Given the description of an element on the screen output the (x, y) to click on. 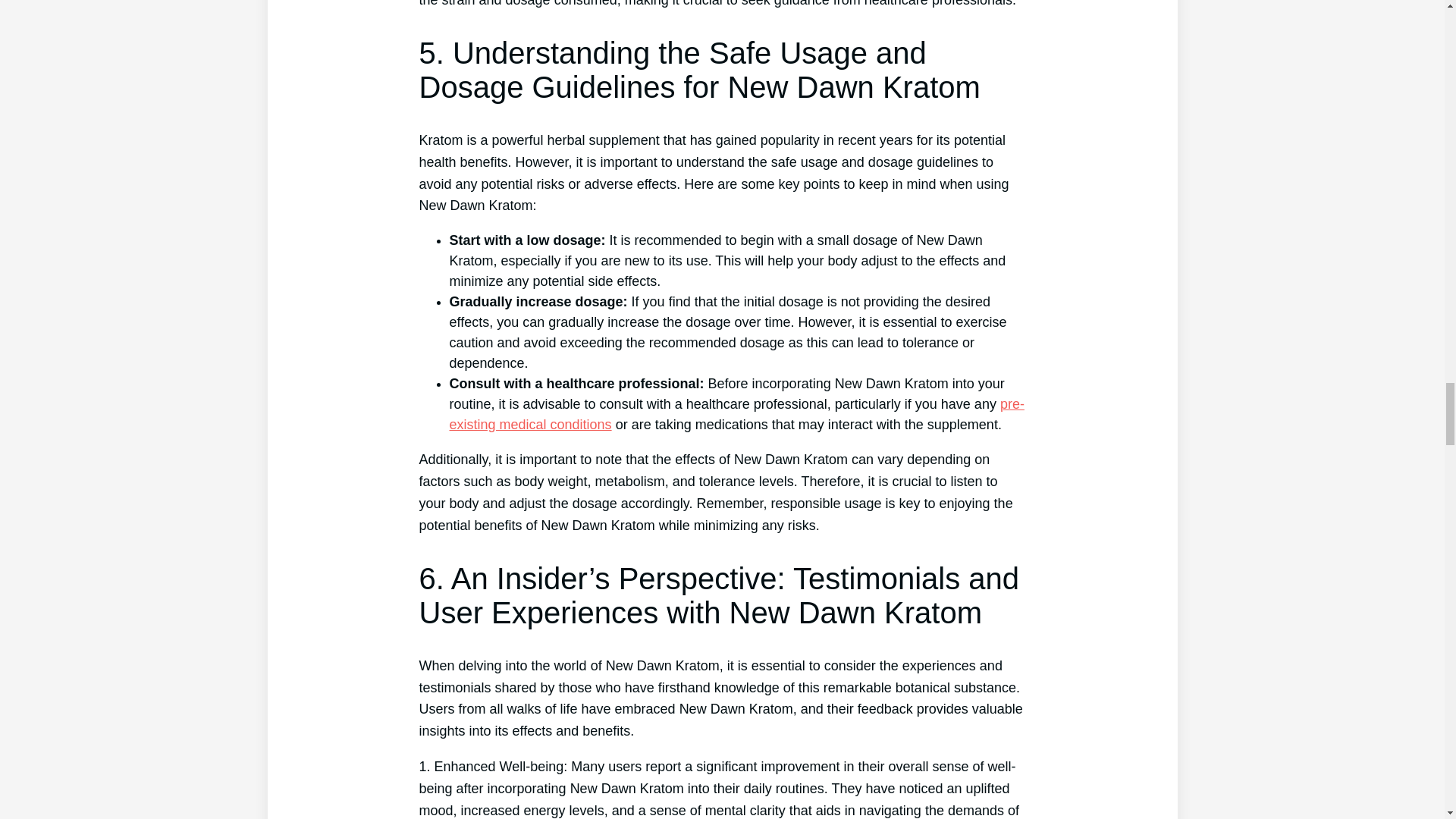
pre-existing medical conditions (735, 414)
Best 10 Kratom Extracts that you can buy today! (735, 414)
